Given the description of an element on the screen output the (x, y) to click on. 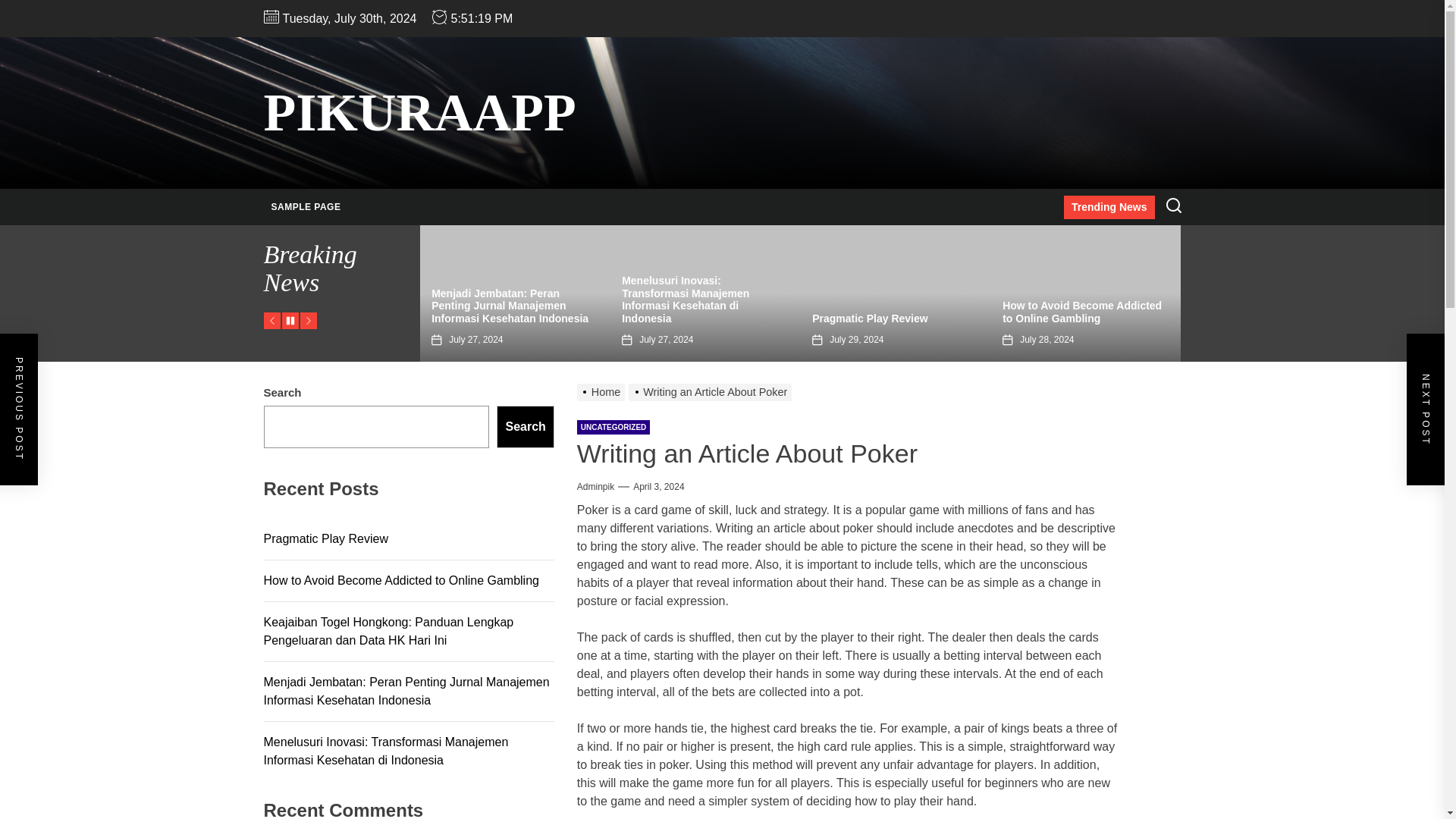
Trending News (1109, 207)
SAMPLE PAGE (306, 207)
PIKURAAPP (419, 112)
